Given the description of an element on the screen output the (x, y) to click on. 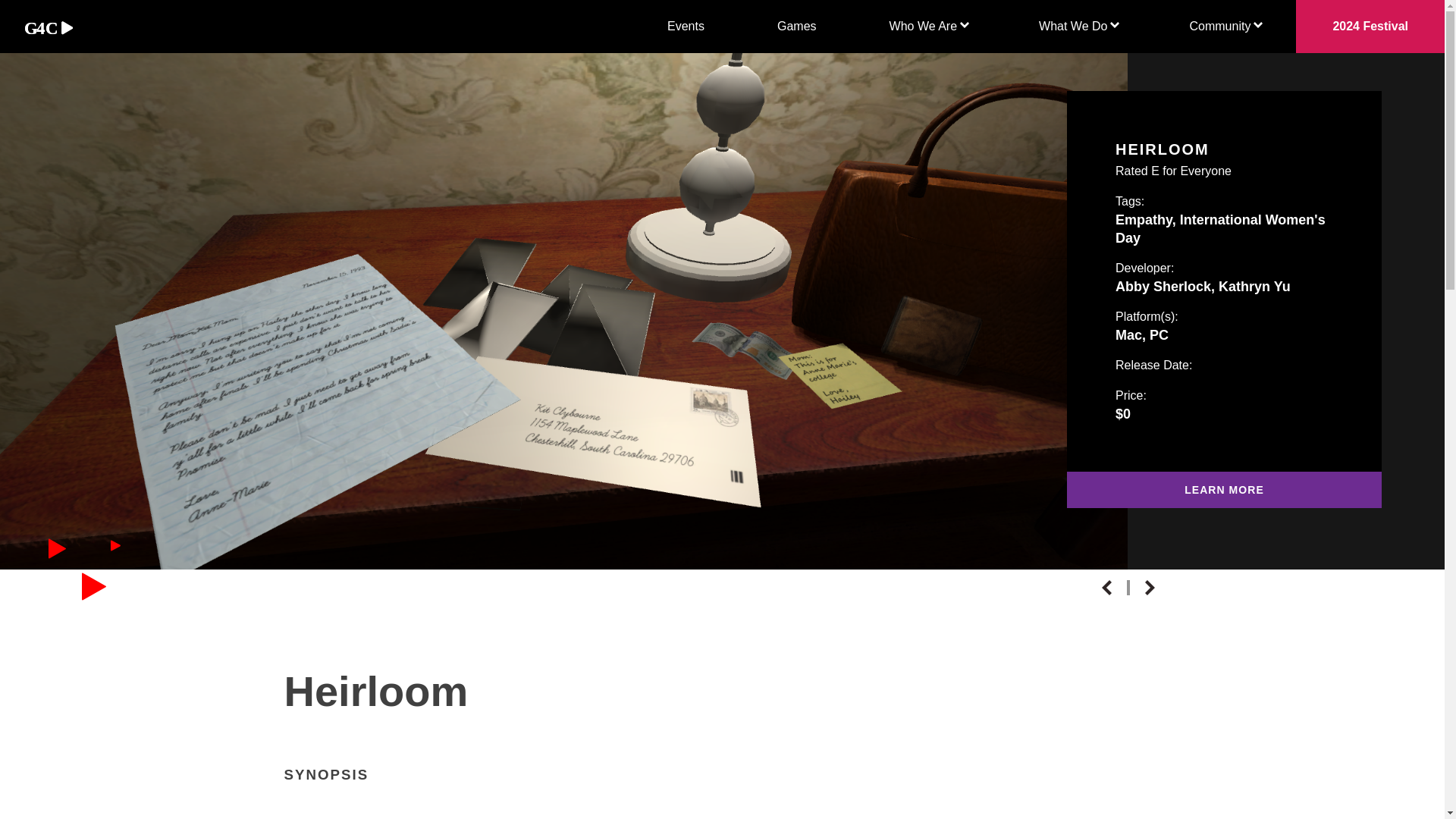
Games (797, 26)
Community (1224, 26)
LEARN MORE (1224, 489)
Who We Are (928, 26)
What We Do (1078, 26)
Events (685, 26)
